Given the description of an element on the screen output the (x, y) to click on. 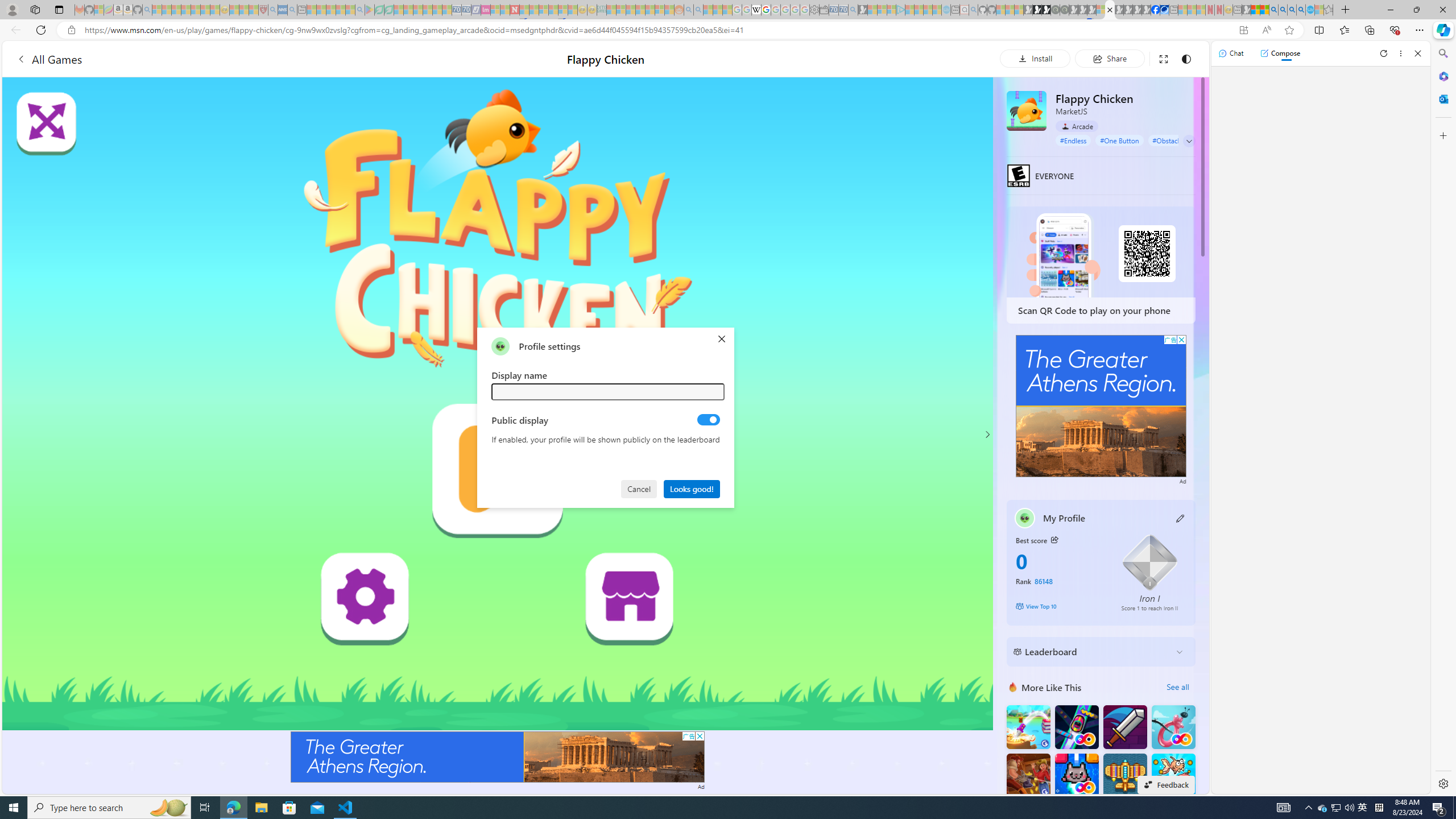
""'s avatar (500, 345)
Advertisement (1101, 405)
Arcade (1076, 126)
Dungeon Master Knight (1124, 726)
AutomationID: canvas (497, 403)
All Games (49, 58)
Kitten Force FRVR (1076, 775)
